Given the description of an element on the screen output the (x, y) to click on. 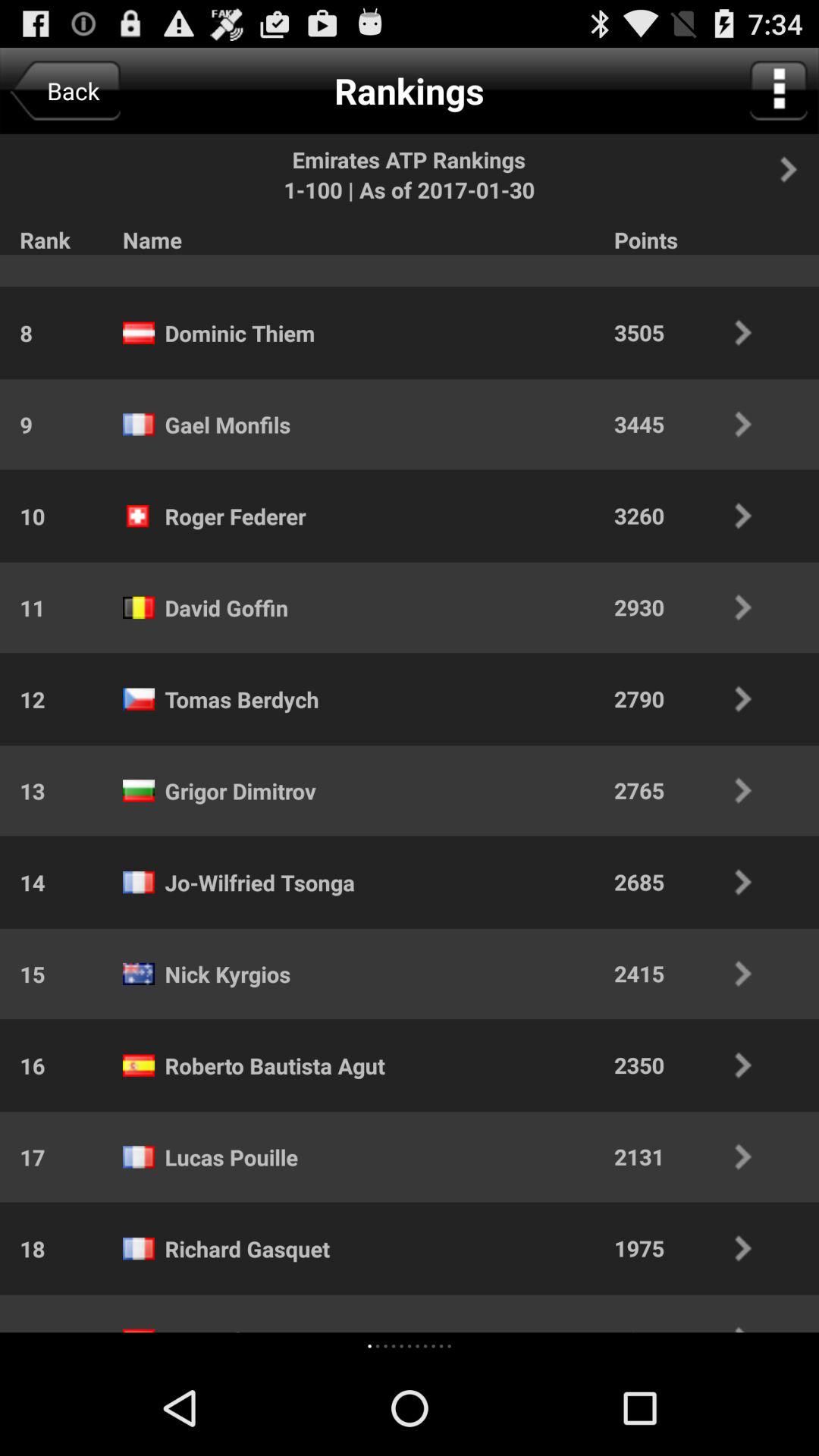
press item below the jo-wilfried tsonga (227, 973)
